Given the description of an element on the screen output the (x, y) to click on. 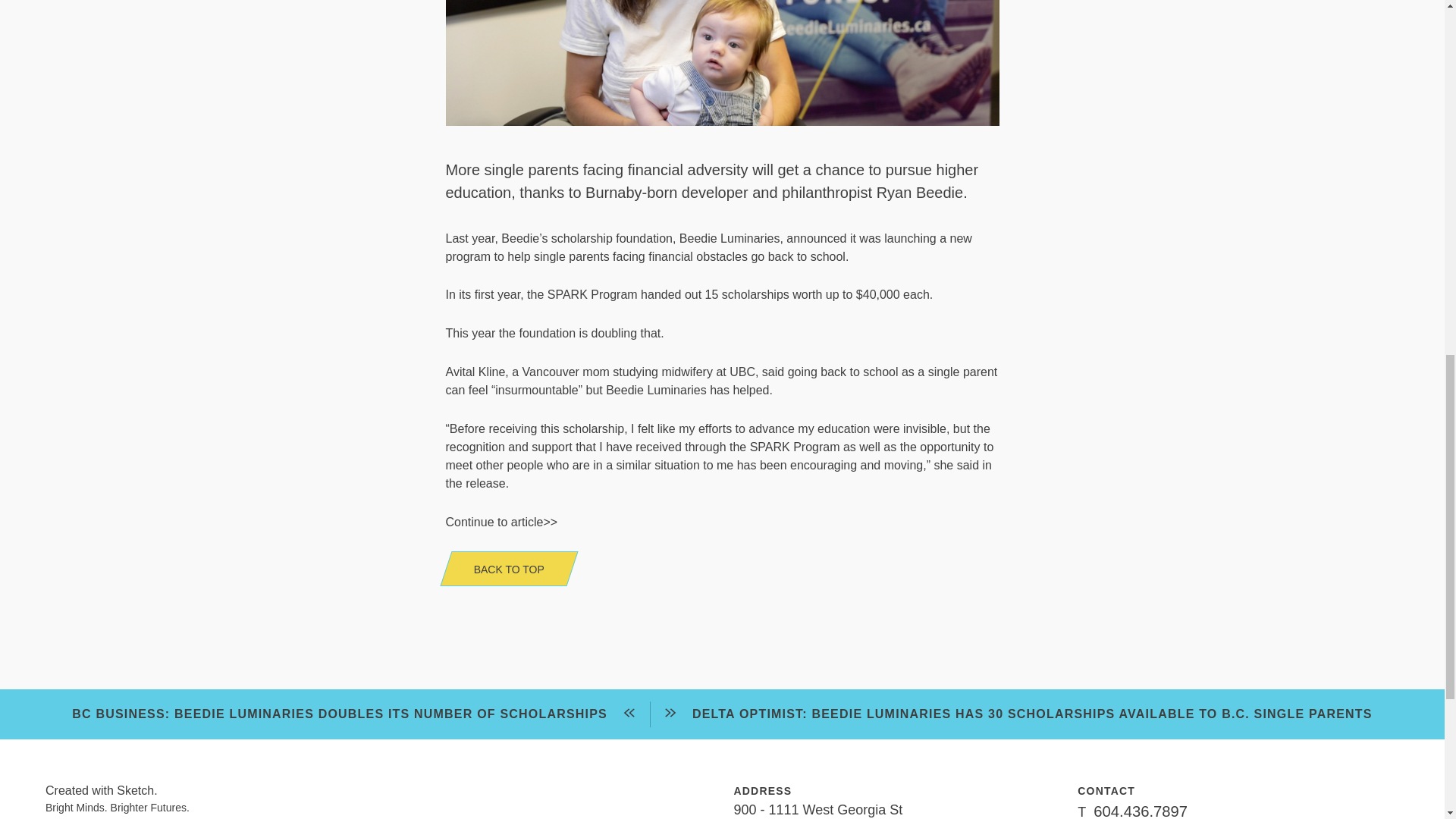
SPARK Program (592, 294)
604.436.7897 (1140, 809)
BACK TO TOP (502, 568)
